Given the description of an element on the screen output the (x, y) to click on. 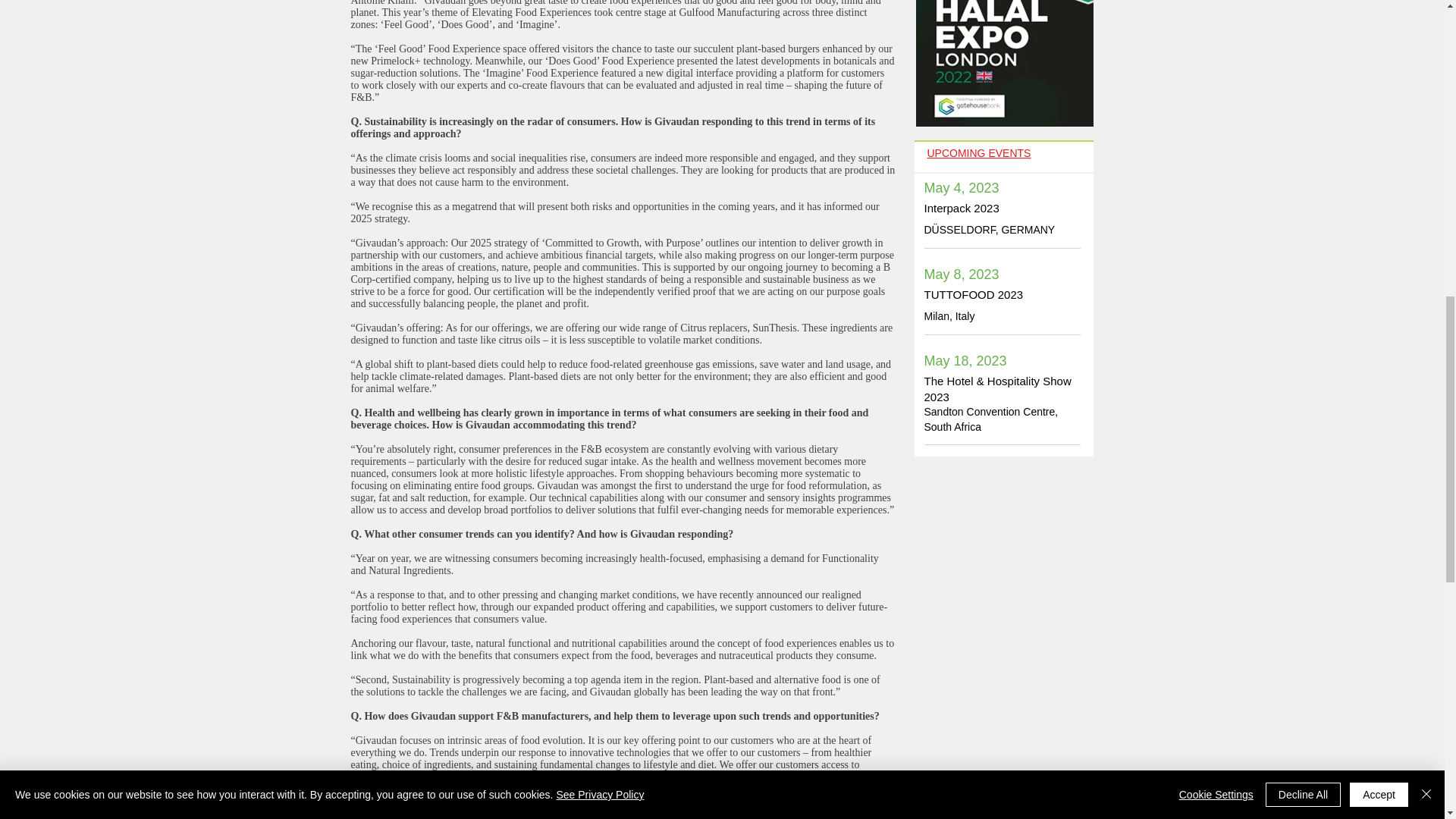
UPCOMING EVENTS (978, 152)
